Given the description of an element on the screen output the (x, y) to click on. 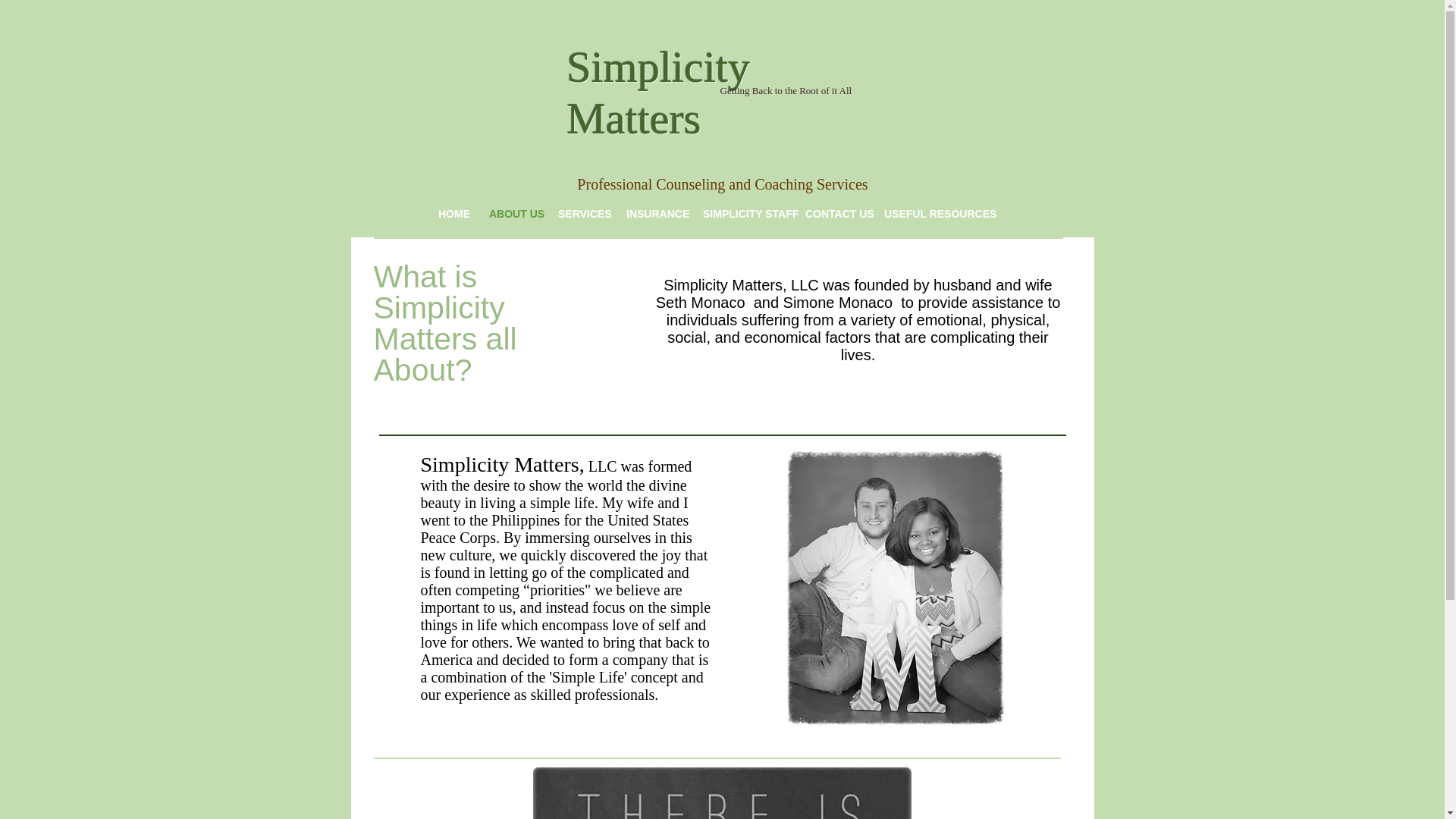
INSURANCE (652, 213)
SIMPLICITY STAFF (742, 213)
ABOUT US (512, 213)
SERVICES (580, 213)
beauty-in-simplicity.jpg (721, 792)
CONTACT US (832, 213)
HOME (451, 213)
USEFUL RESOURCES (932, 213)
